Given the description of an element on the screen output the (x, y) to click on. 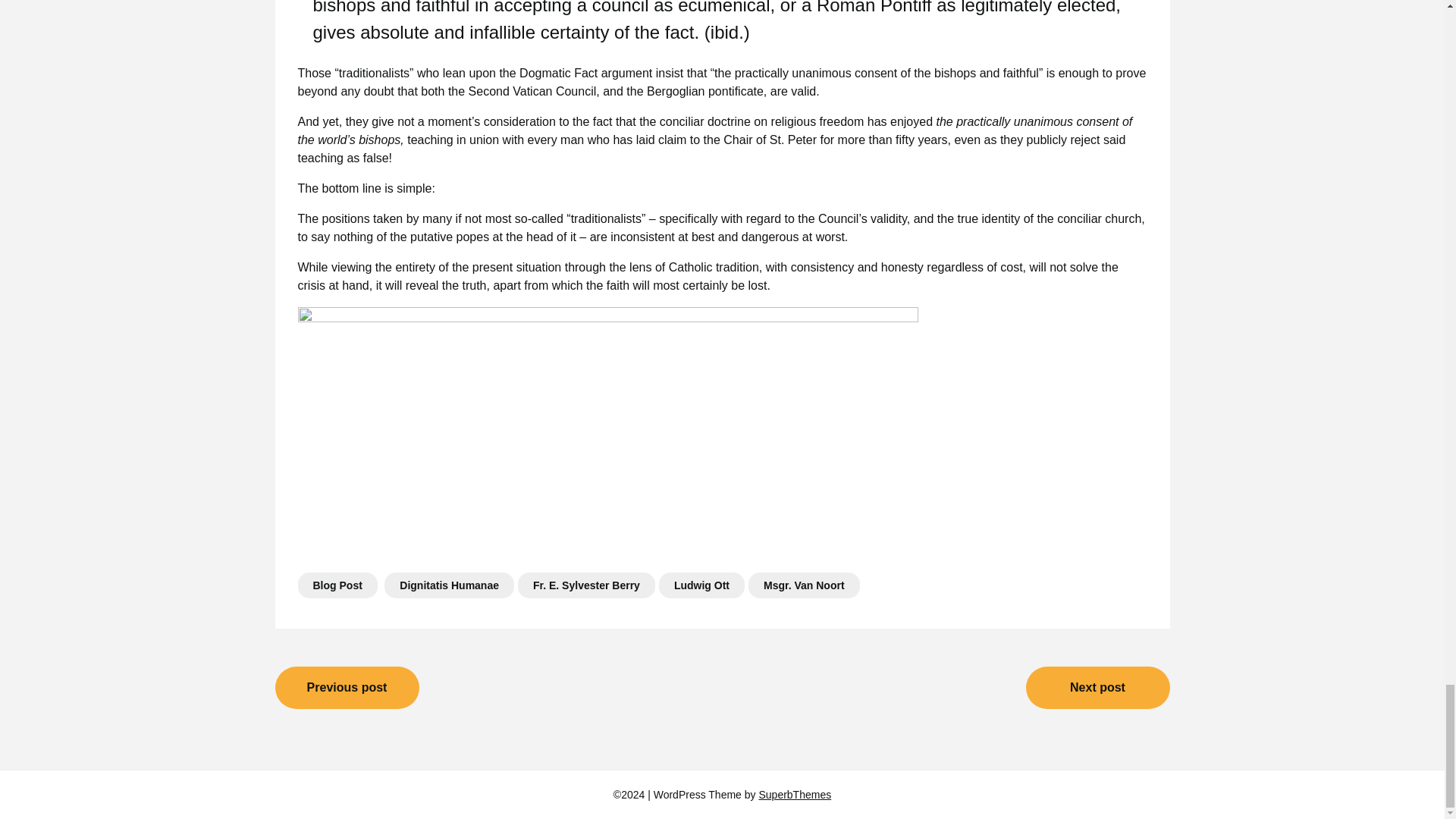
Next post (1097, 687)
Msgr. Van Noort (804, 585)
SuperbThemes (794, 794)
Fr. E. Sylvester Berry (586, 585)
Ludwig Ott (701, 585)
Blog Post (337, 585)
Dignitatis Humanae (448, 585)
Previous post (347, 687)
